Given the description of an element on the screen output the (x, y) to click on. 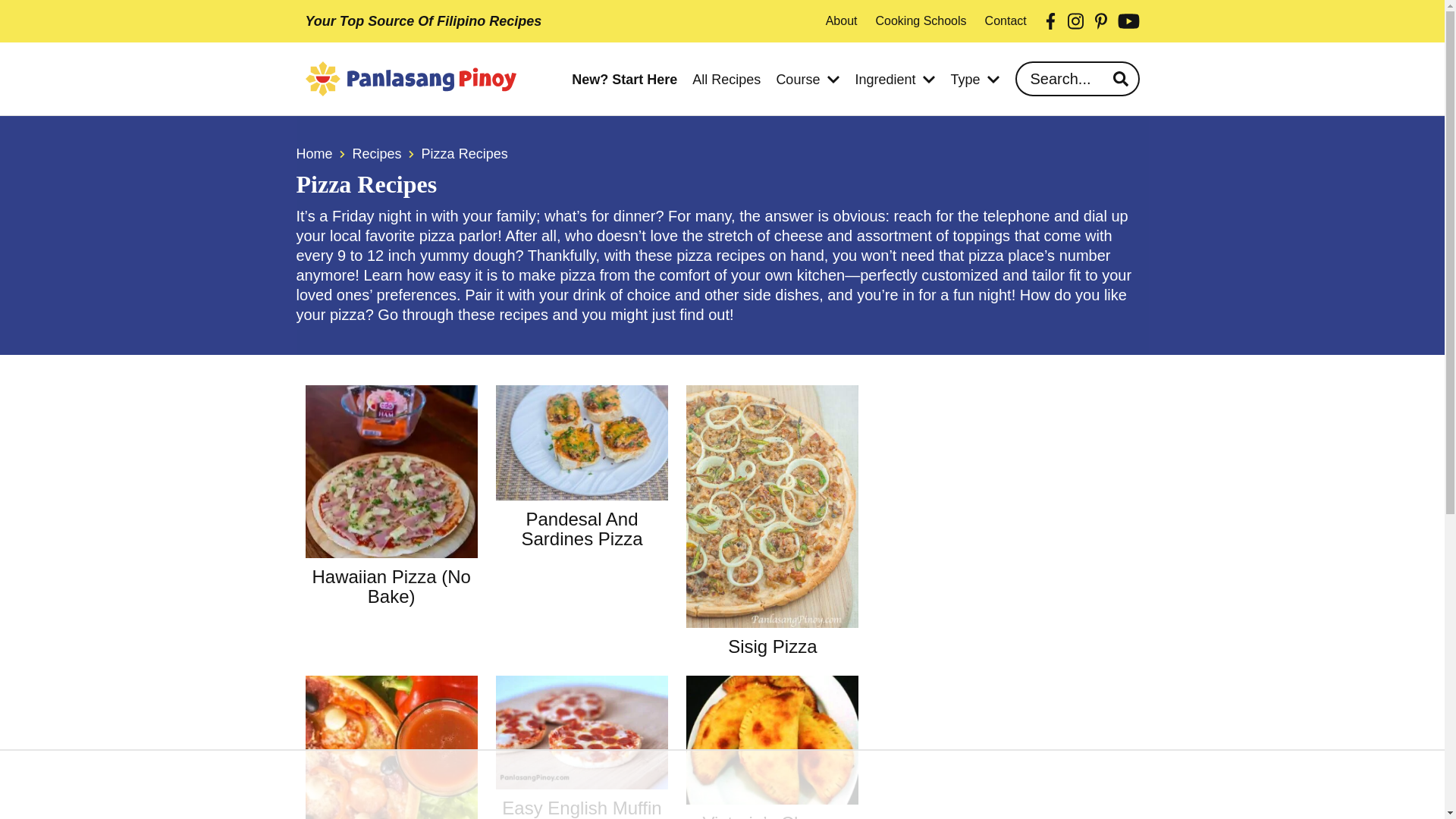
Your Top Source Of Filipino Recipes (422, 20)
Home (313, 153)
YouTube (1129, 21)
Search (1121, 78)
About (841, 21)
Search (1121, 78)
Facebook (1051, 21)
All Recipes (726, 80)
Instagram (1075, 21)
Recipes (376, 153)
New? Start Here (624, 80)
Pinterest (1101, 21)
Cooking Schools (920, 21)
